Given the description of an element on the screen output the (x, y) to click on. 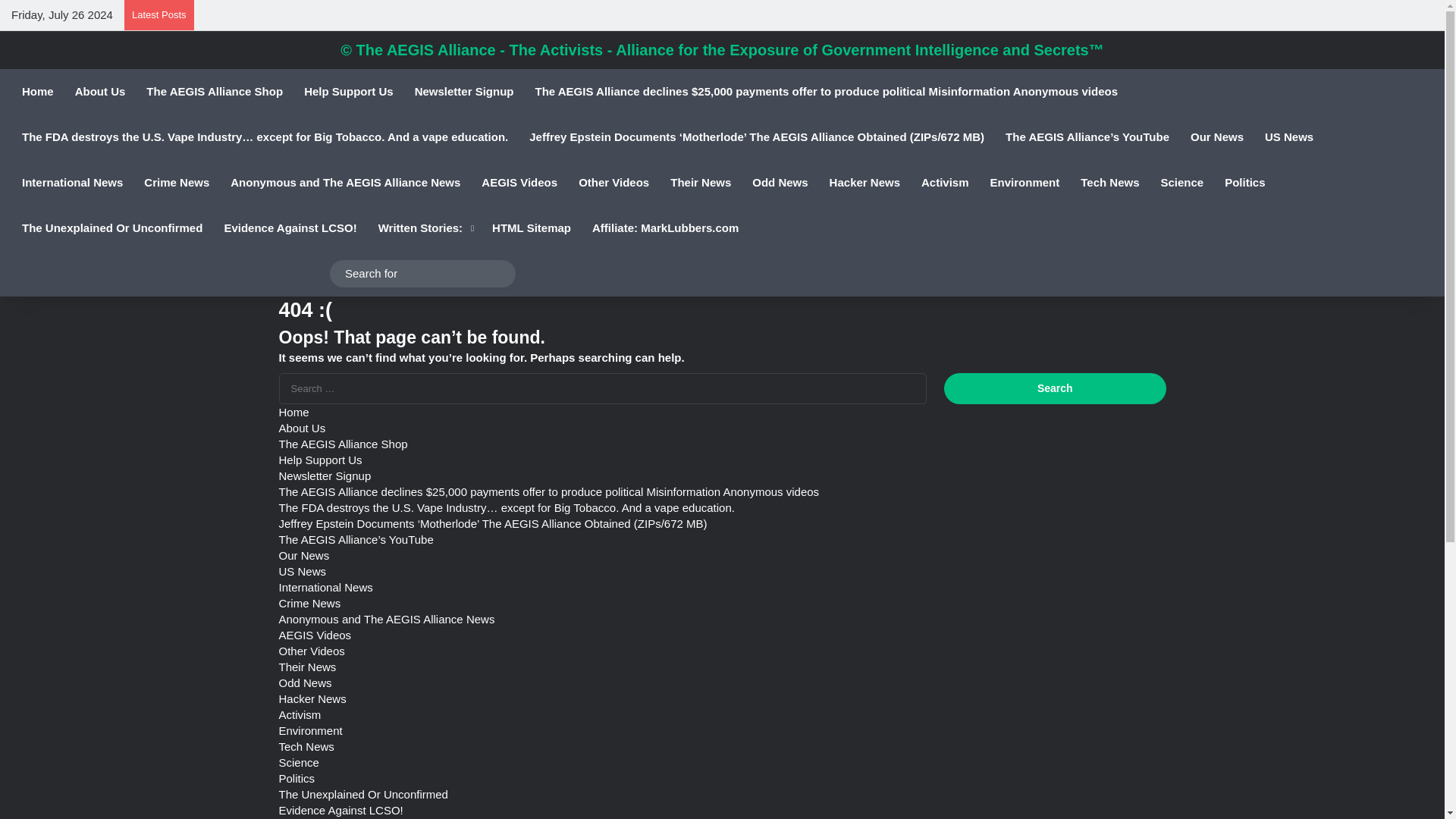
International News (72, 182)
Our News (1216, 136)
Home (37, 91)
Search (1054, 388)
Search (1054, 388)
The AEGIS Alliance Shop (214, 91)
Search for (422, 272)
US News (1288, 136)
About Us (100, 91)
Help Support Us (349, 91)
Newsletter Signup (464, 91)
